Given the description of an element on the screen output the (x, y) to click on. 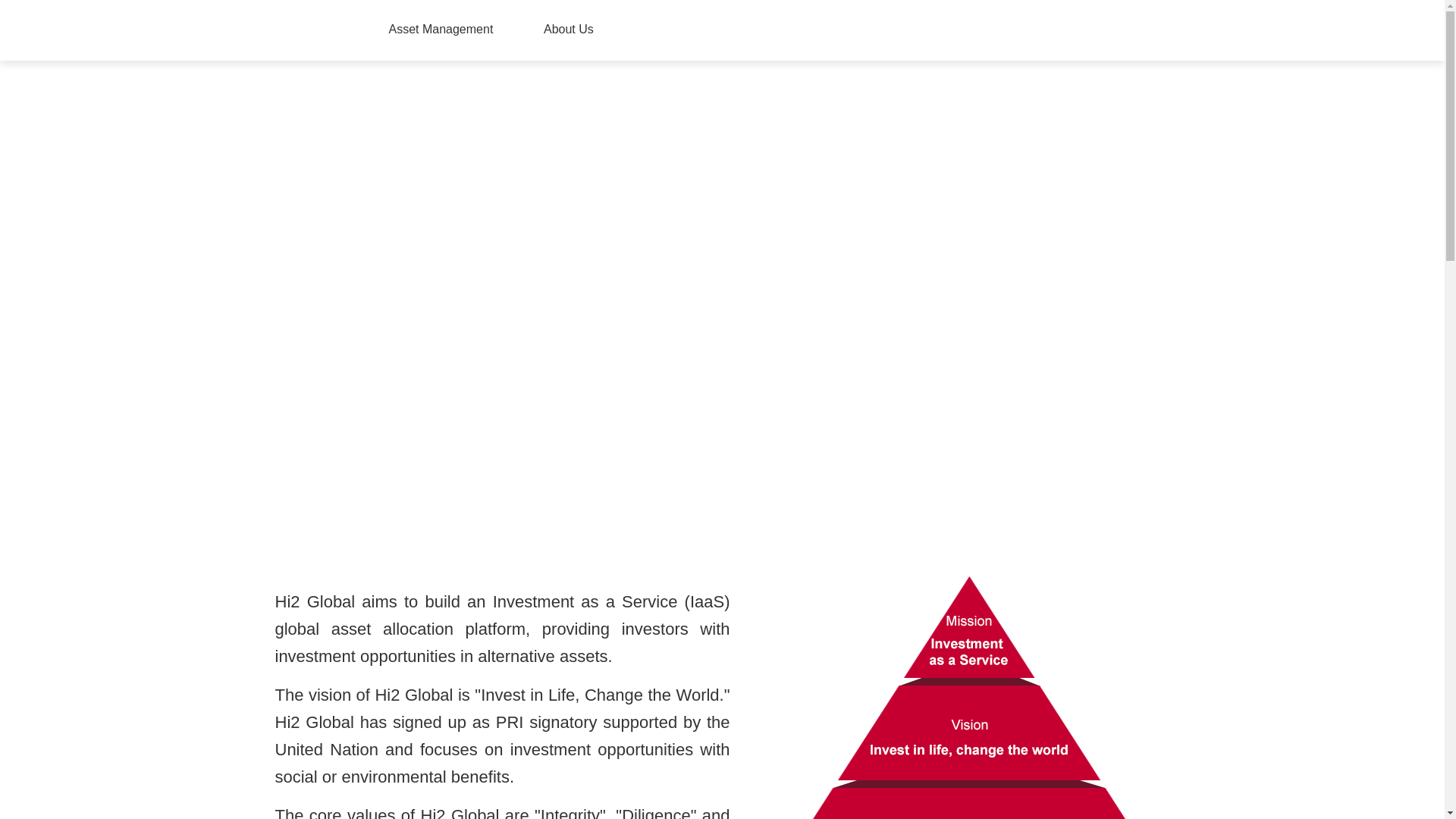
Asset Management (441, 29)
About Us (568, 29)
Asset Management (441, 29)
About Us (568, 29)
